Given the description of an element on the screen output the (x, y) to click on. 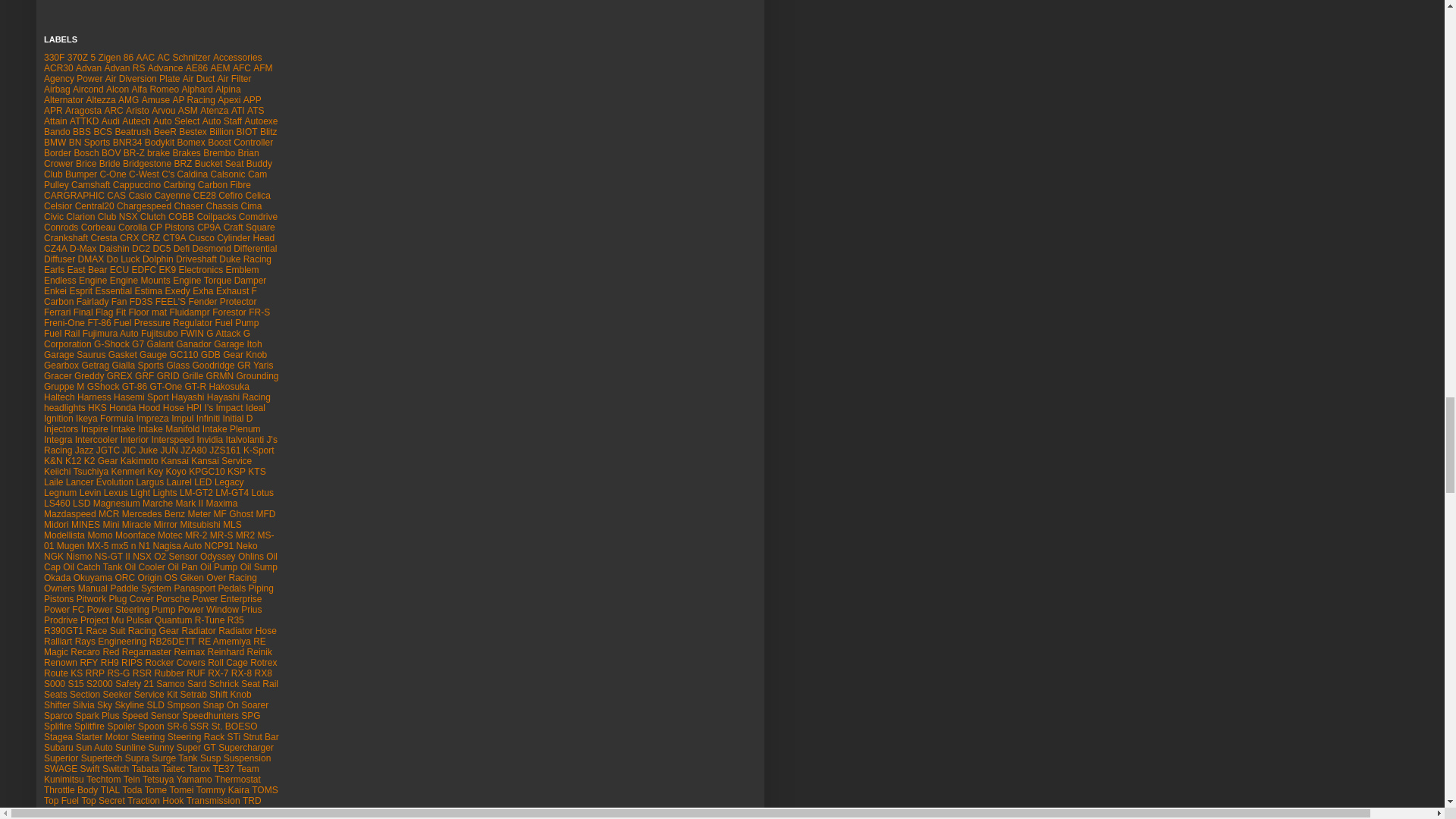
AC Schnitzer (184, 57)
5 Zigen (105, 57)
330F (53, 57)
ACR30 (58, 68)
Advan (88, 68)
Advan RS (123, 68)
86 (128, 57)
370Z (76, 57)
Accessories (237, 57)
AAC (144, 57)
